Given the description of an element on the screen output the (x, y) to click on. 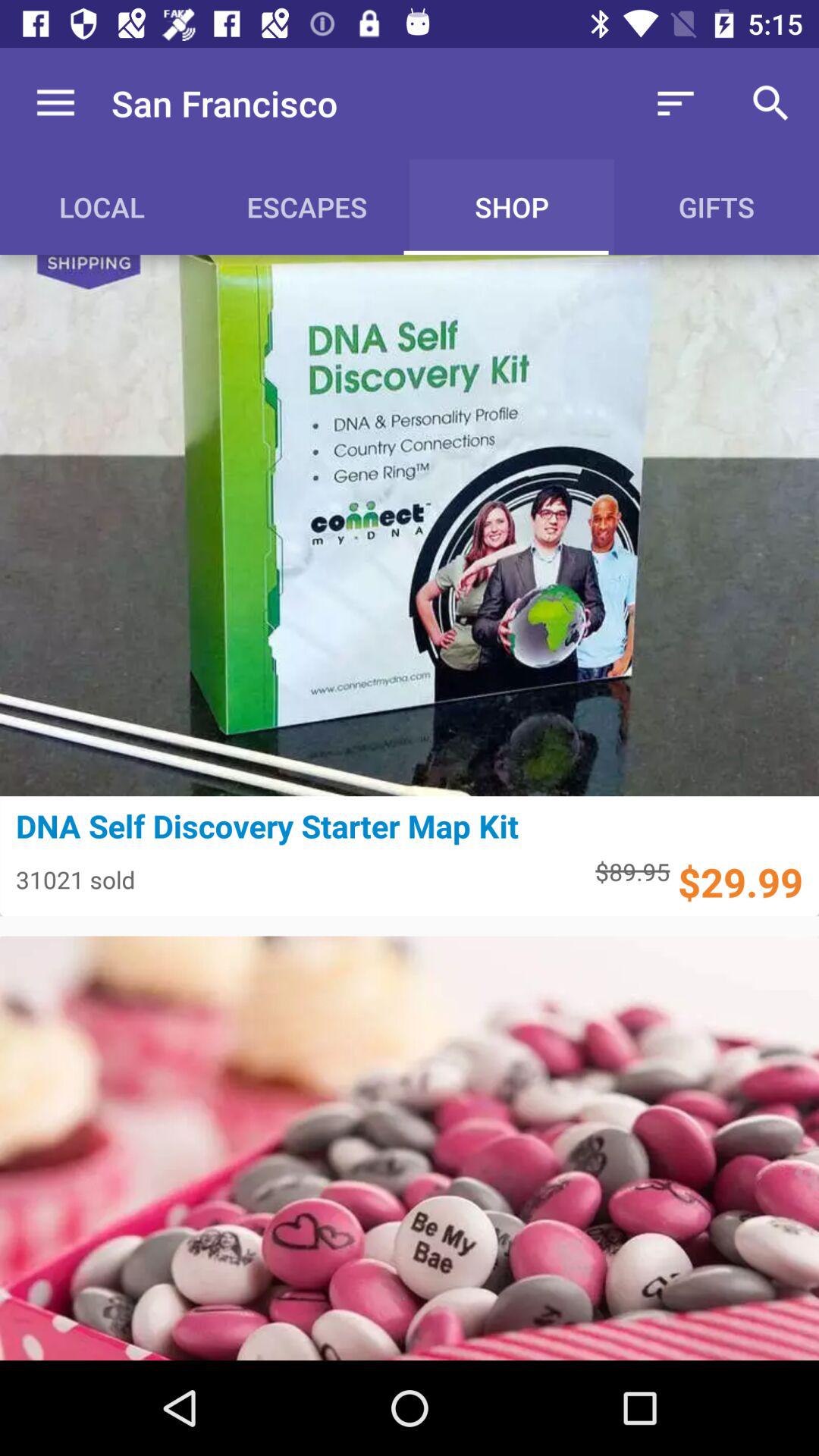
jump to the san francisco icon (224, 103)
